Given the description of an element on the screen output the (x, y) to click on. 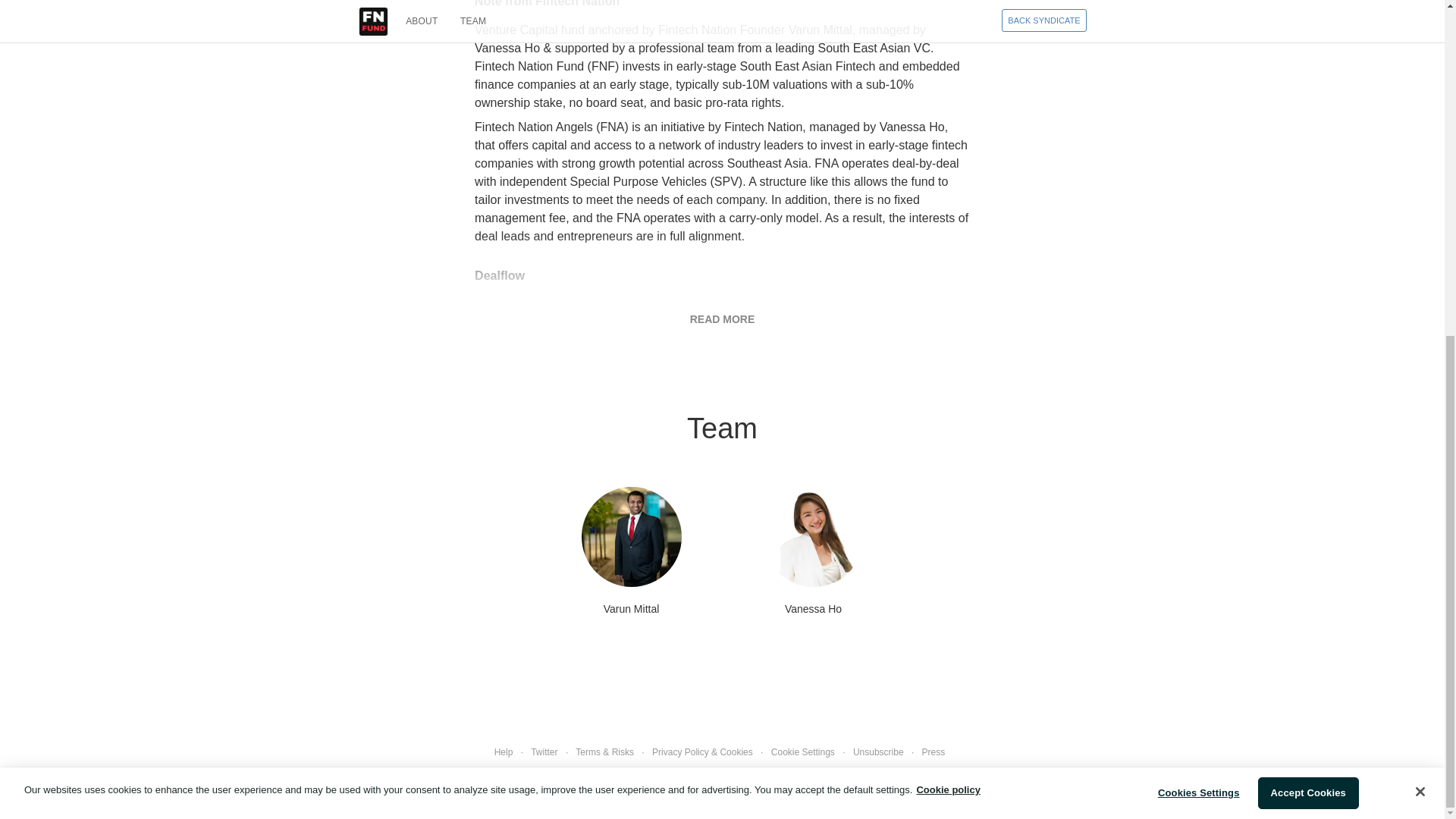
Press (932, 751)
Unsubscribe (878, 751)
Cookies Settings (1198, 230)
Cookie policy (947, 226)
Twitter (544, 751)
Cookie Settings (802, 751)
Accept Cookies (1307, 230)
Help (504, 751)
READ MORE (722, 318)
